Given the description of an element on the screen output the (x, y) to click on. 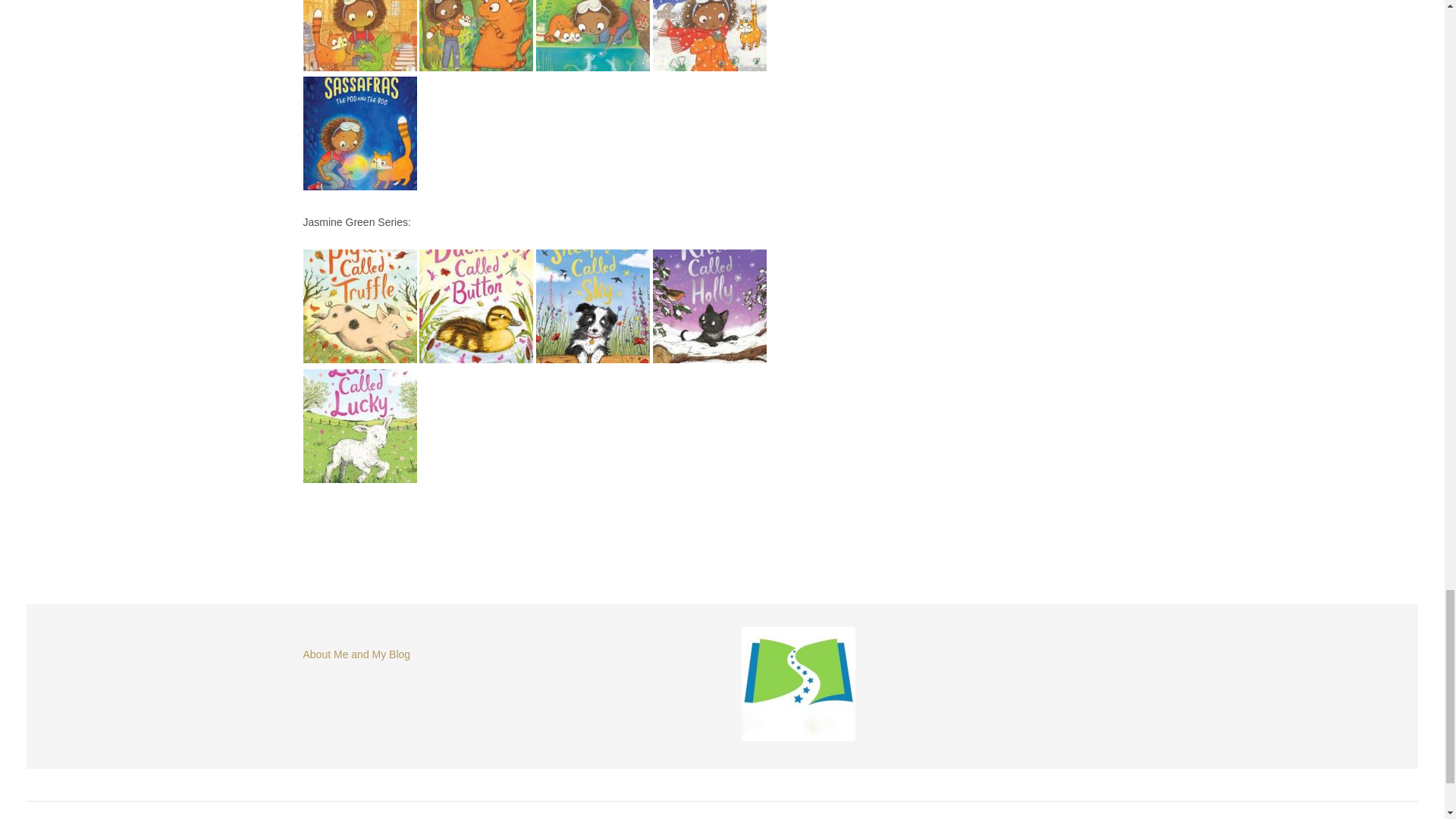
About Me and My Blog (356, 654)
